Given the description of an element on the screen output the (x, y) to click on. 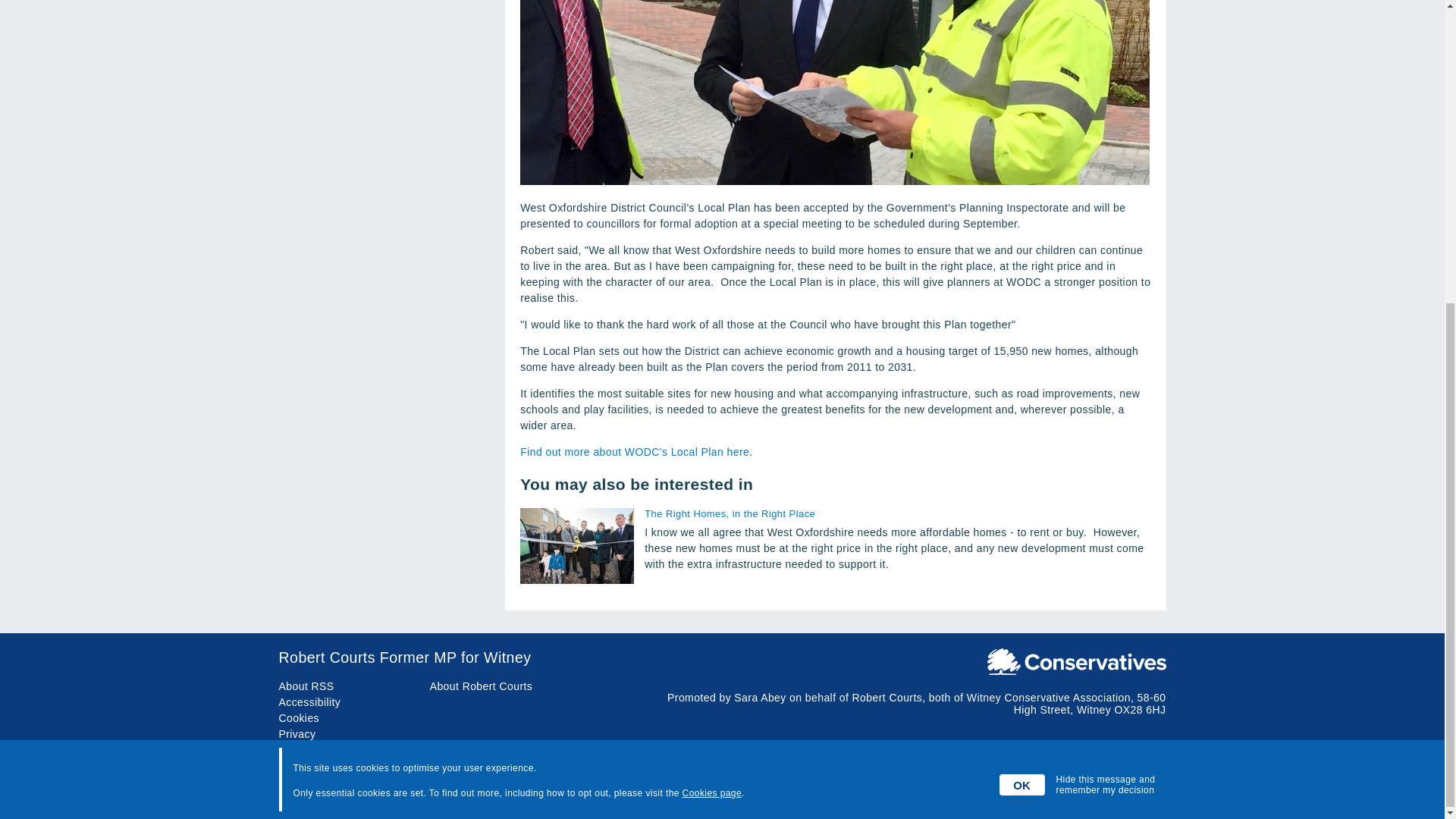
Cookies page (711, 317)
OK (1021, 309)
Accessibility (309, 702)
About RSS (306, 686)
Robert Courts Former MP for Witney (722, 657)
Bluetree (1145, 793)
Find out more about WODC's Local Plan here (634, 451)
Cookies (299, 717)
Privacy (297, 734)
About Robert Courts (480, 686)
The Right Homes, in the Right Place (897, 513)
